Given the description of an element on the screen output the (x, y) to click on. 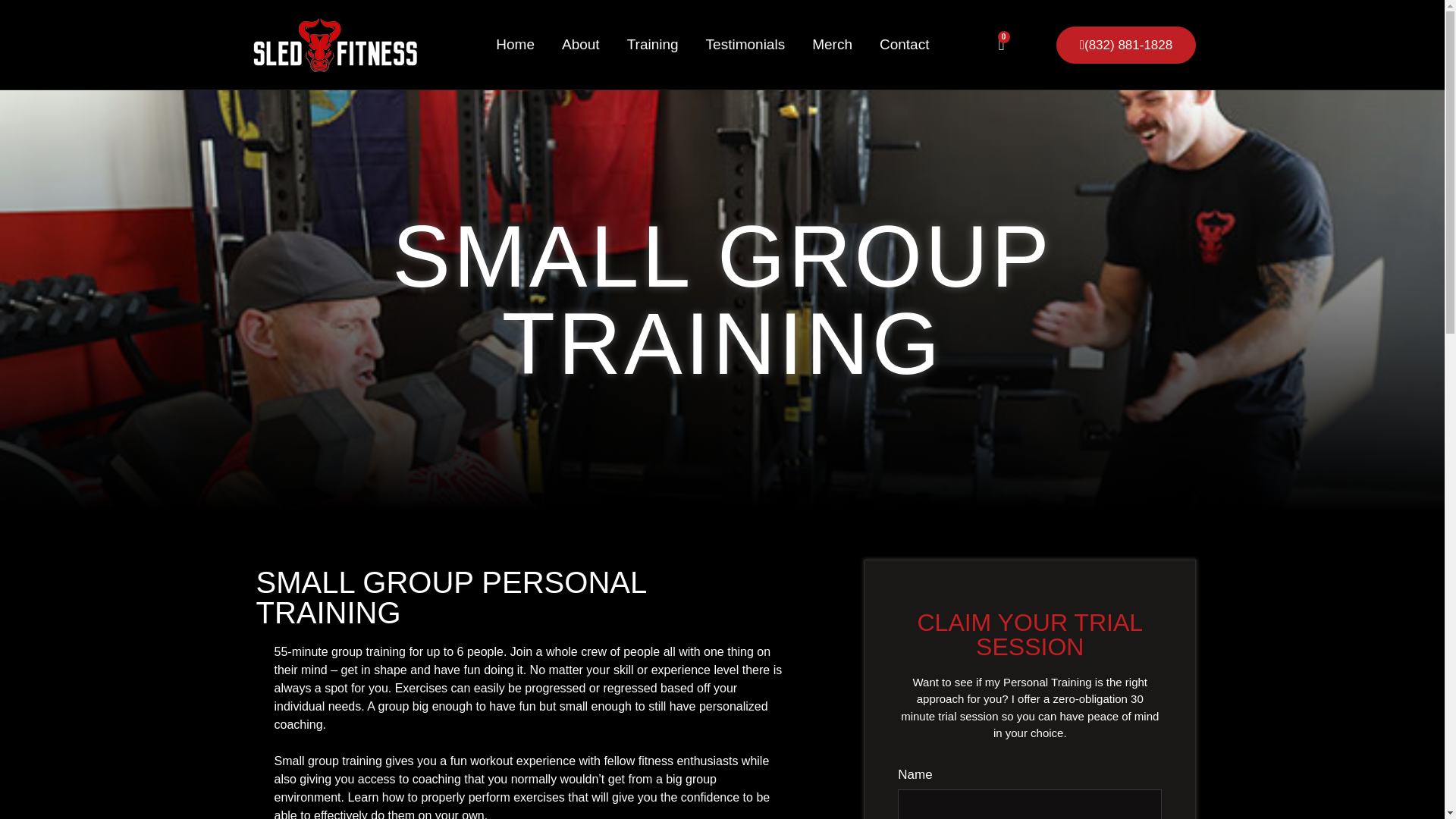
Testimonials (745, 44)
Contact (903, 44)
Merch (831, 44)
About (580, 44)
0 (1000, 44)
Home (515, 44)
Training (652, 44)
